Given the description of an element on the screen output the (x, y) to click on. 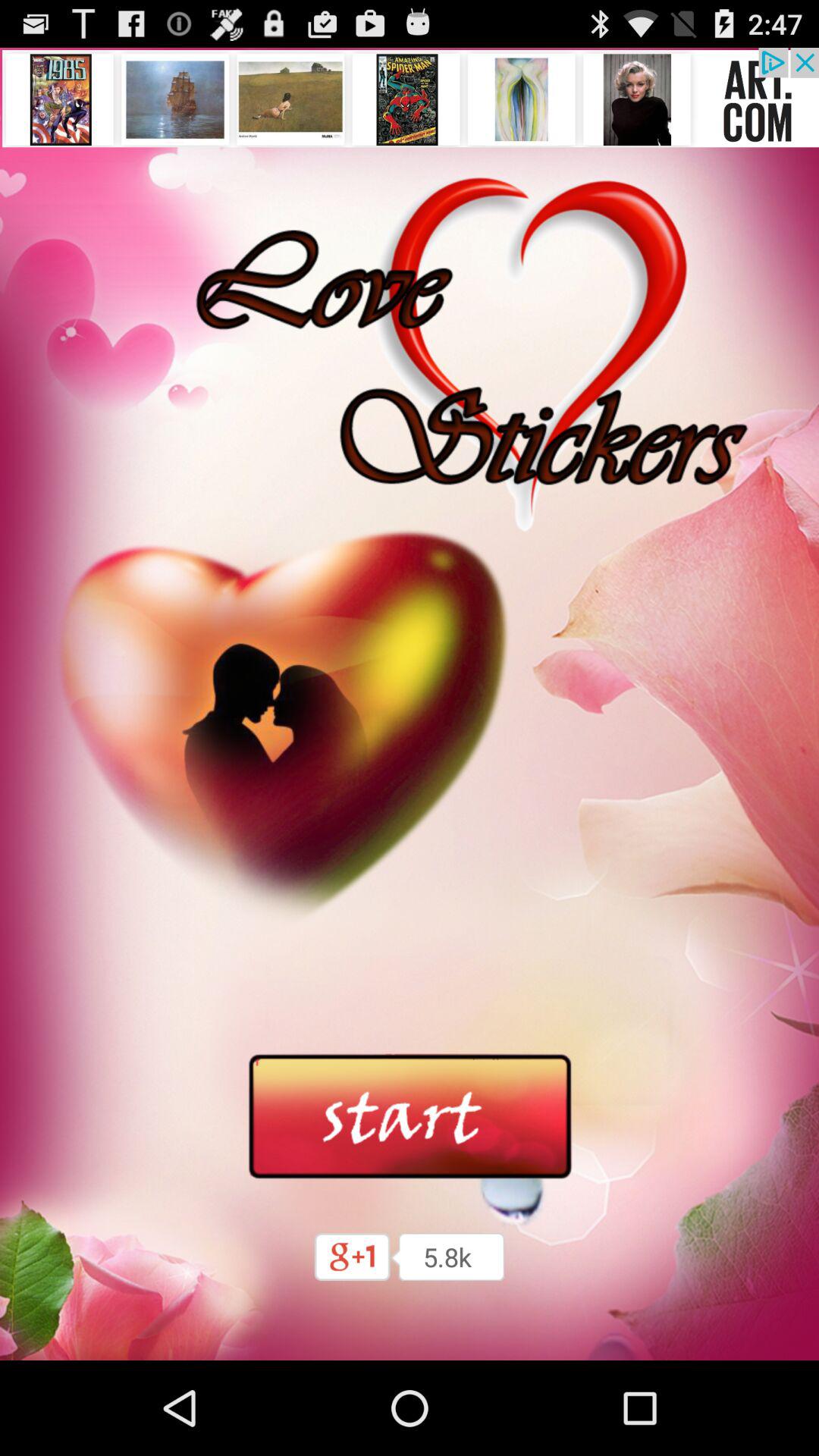
start (409, 1116)
